Given the description of an element on the screen output the (x, y) to click on. 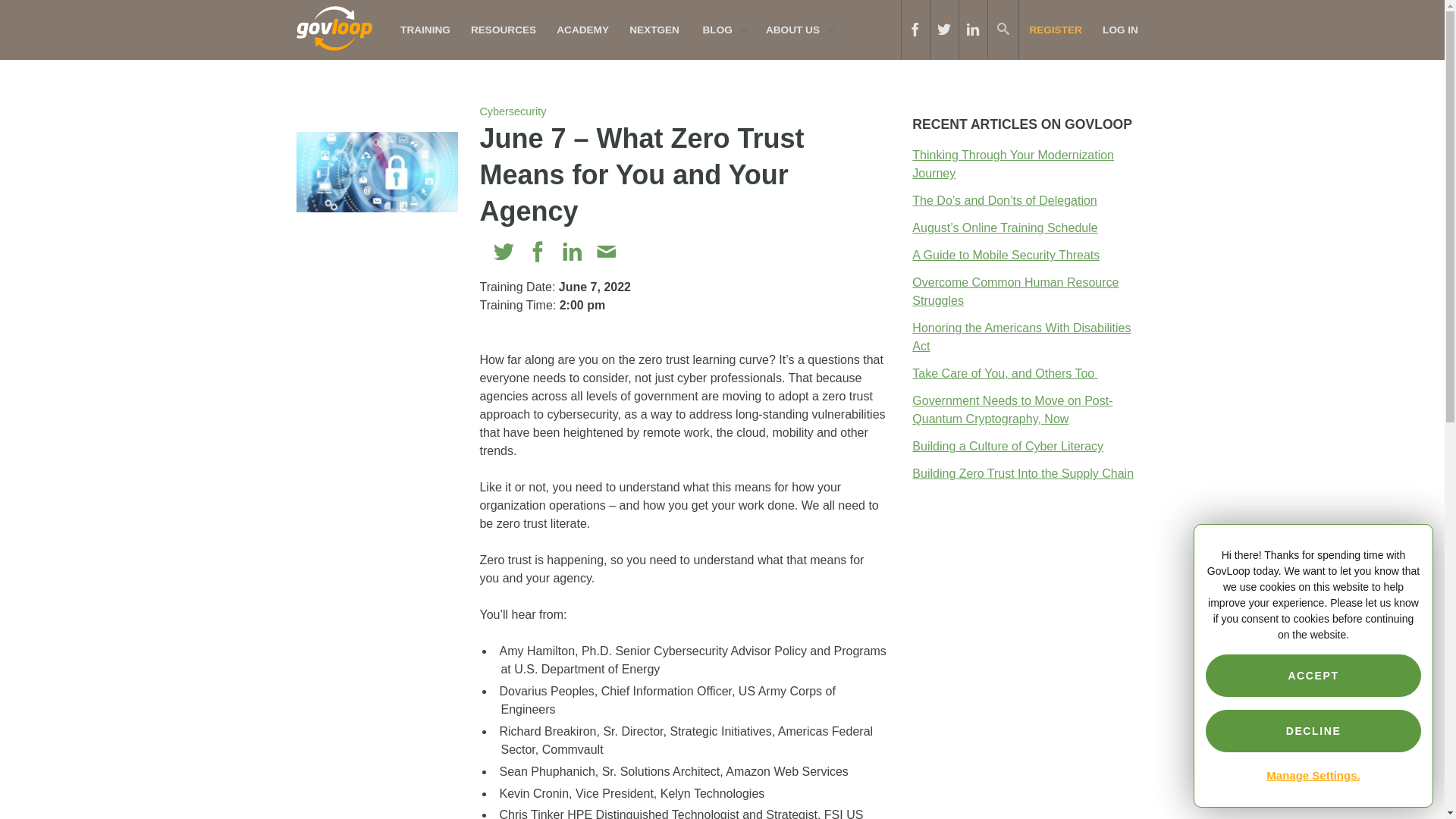
Linkedin (572, 251)
REGISTER (1056, 29)
ABOUT US (796, 29)
ACADEMY (583, 29)
BLOG (721, 29)
Print (640, 251)
NEXTGEN (655, 29)
Facebook (537, 251)
Twitter (503, 251)
TRAINING (425, 29)
